Given the description of an element on the screen output the (x, y) to click on. 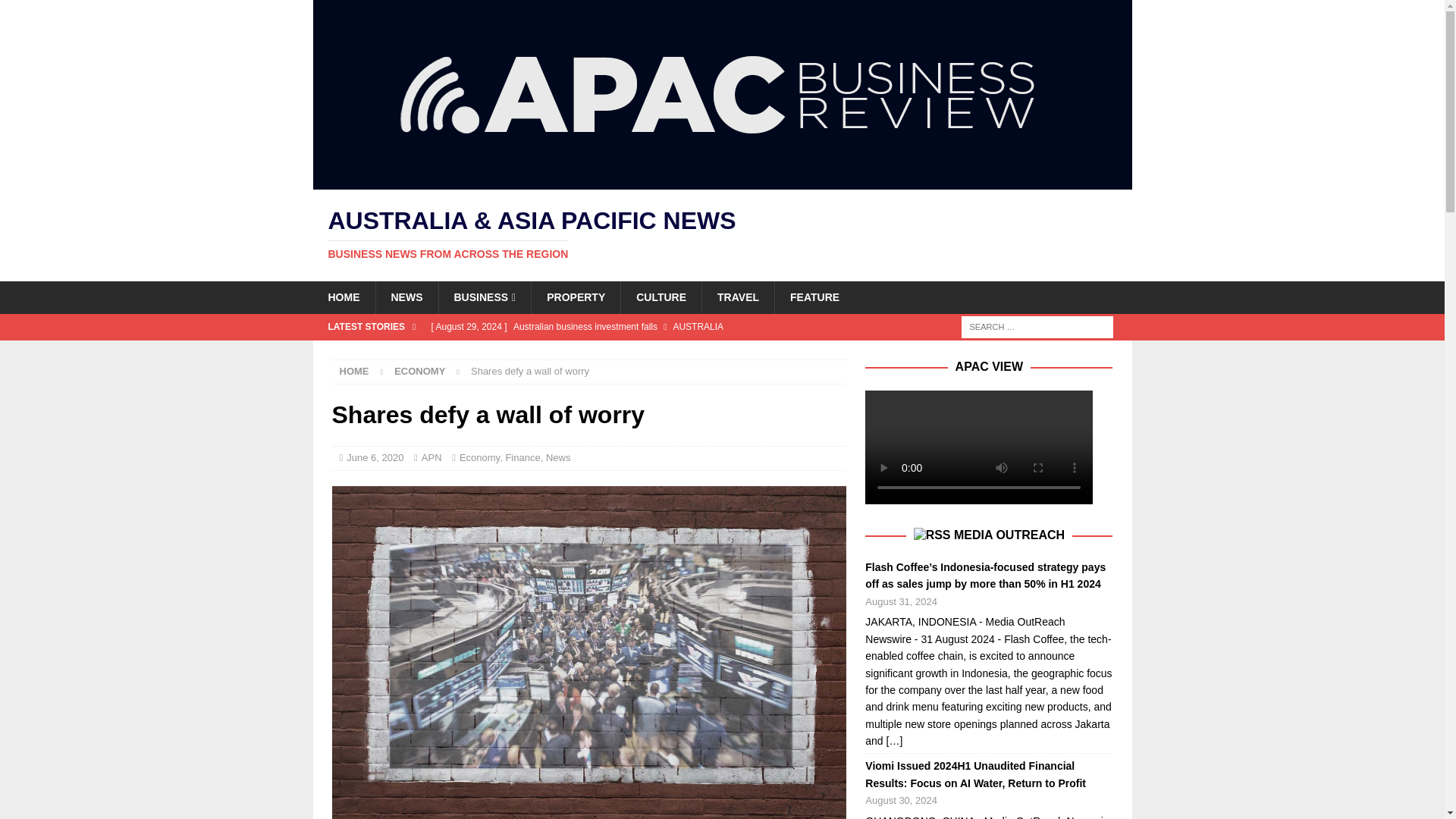
Australian business investment falls (632, 326)
HOME (354, 370)
HOME (343, 296)
Finance (522, 457)
TRAVEL (737, 296)
June 6, 2020 (374, 457)
FEATURE (814, 296)
Economy (419, 370)
NEWS (406, 296)
BUSINESS (484, 296)
